Given the description of an element on the screen output the (x, y) to click on. 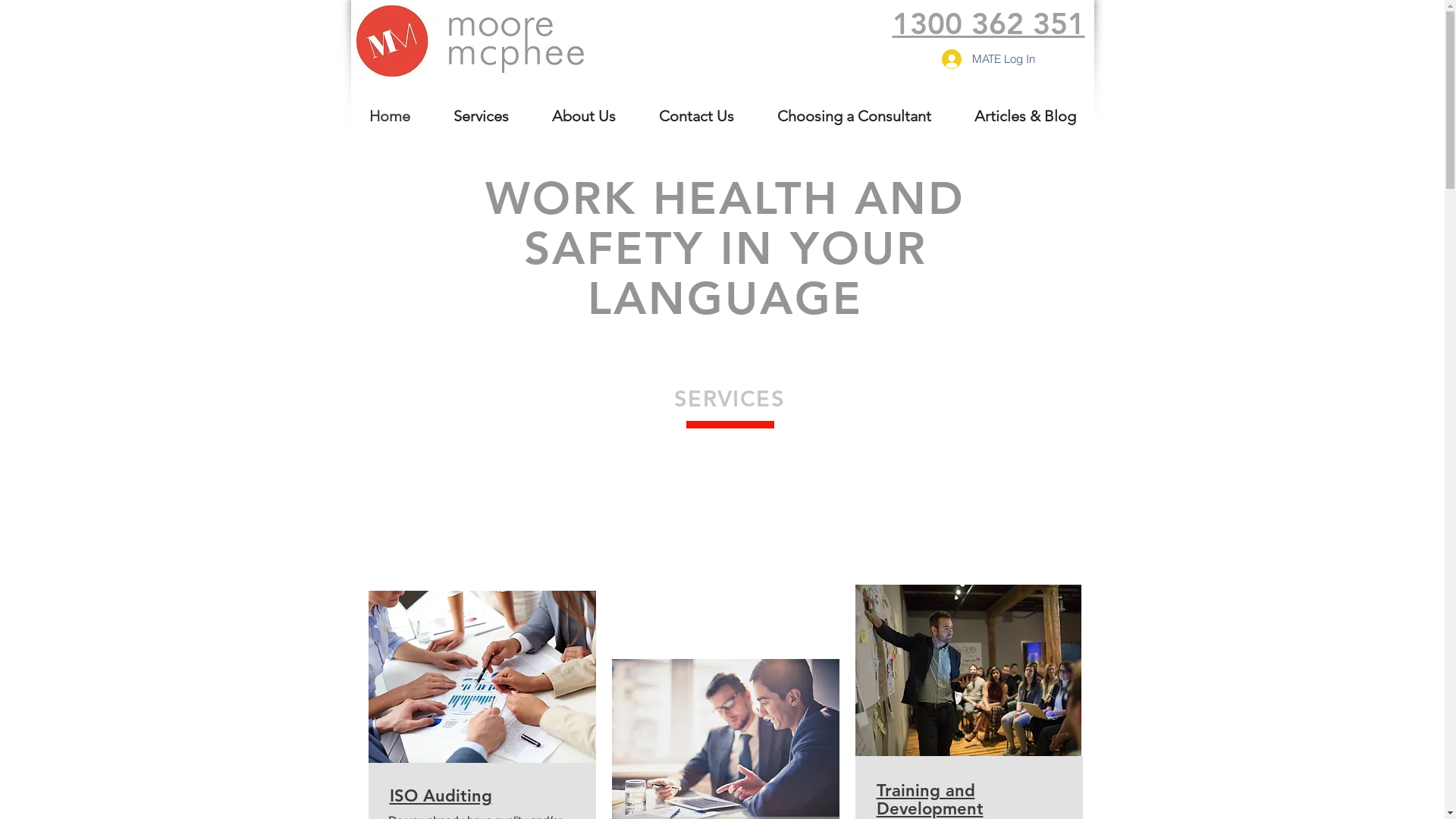
MATE Log In Element type: text (988, 57)
About Us Element type: text (583, 115)
Contact Us Element type: text (696, 115)
ISO Auditing Element type: text (440, 795)
Articles & Blog Element type: text (1024, 115)
Discussing the Numbers Element type: hover (482, 676)
Home Element type: text (389, 115)
1300 362 351 Element type: text (987, 23)
Services Element type: text (481, 115)
Choosing a Consultant Element type: text (853, 115)
